Given the description of an element on the screen output the (x, y) to click on. 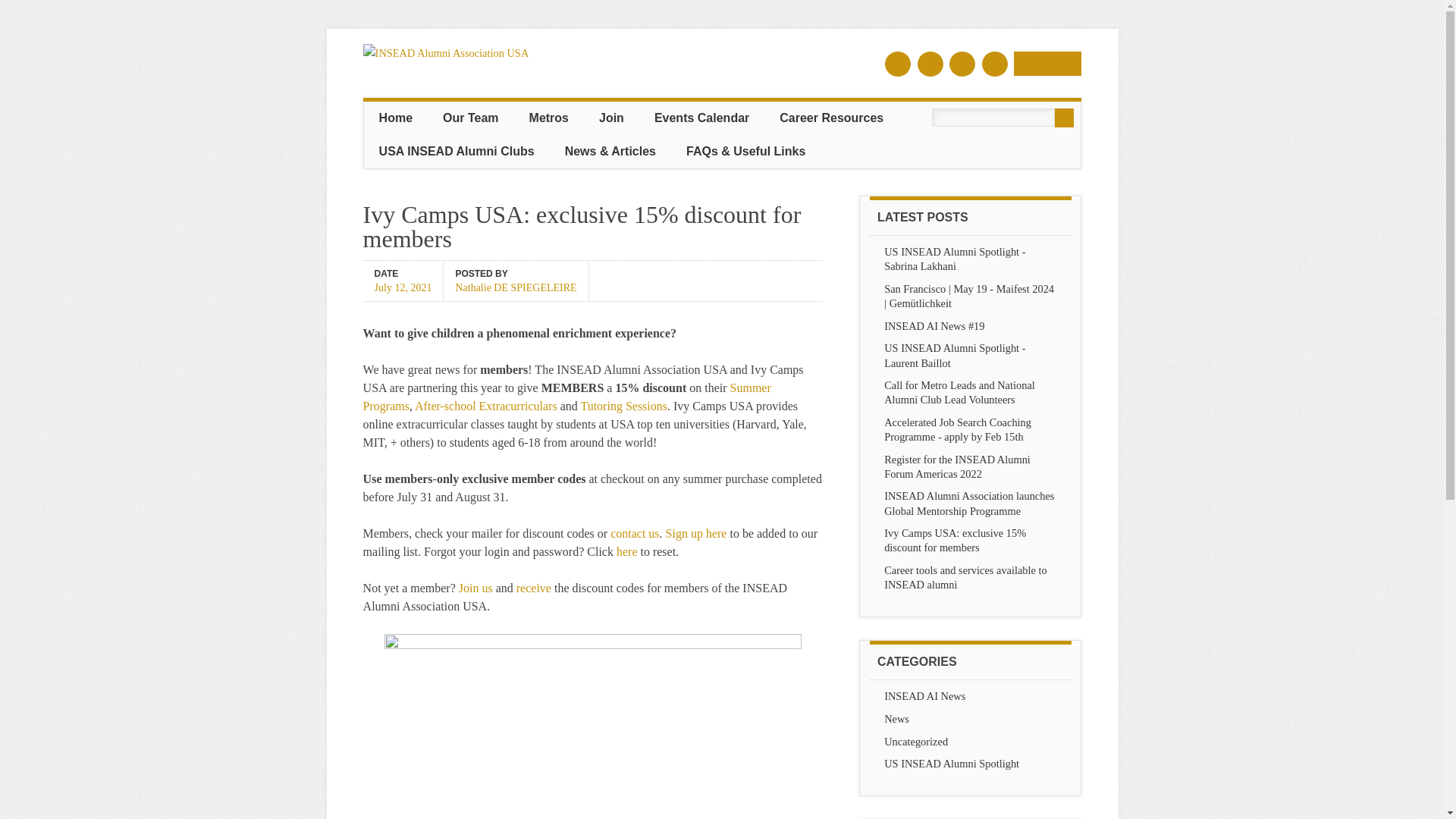
INSEAD Alumni Association USA (445, 52)
Home (396, 118)
Twitter (930, 63)
Email (1047, 63)
USA INSEAD Alumni Clubs (457, 151)
Join (611, 118)
Facebook (898, 63)
Metros (548, 118)
Search (1064, 117)
View all posts by Nathalie DE SPIEGELEIRE (515, 286)
Linkedin (962, 63)
Look US INSEAD Alumni Spotlight - Sabrina Lakhani (954, 258)
Instagram (994, 63)
Events Calendar (701, 118)
